Given the description of an element on the screen output the (x, y) to click on. 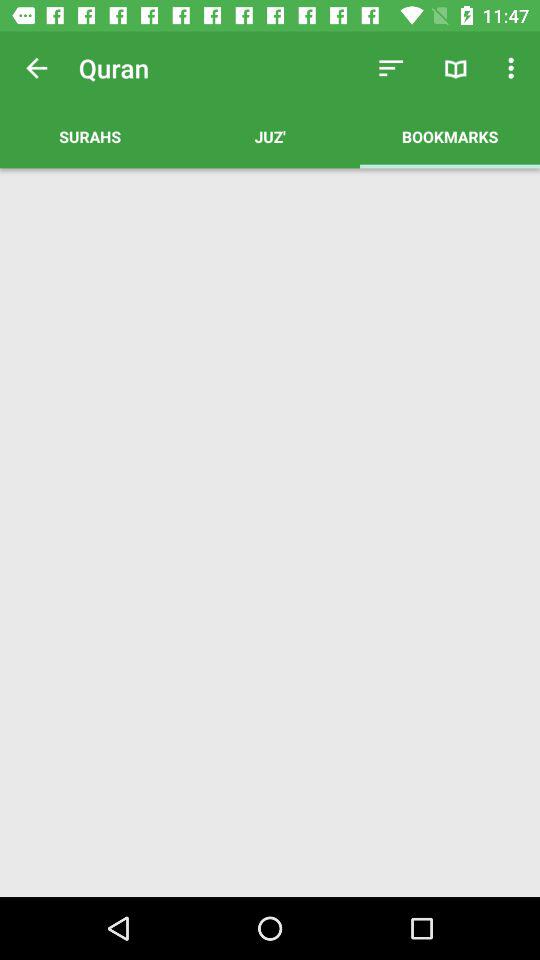
tap icon next to the surahs icon (270, 136)
